Given the description of an element on the screen output the (x, y) to click on. 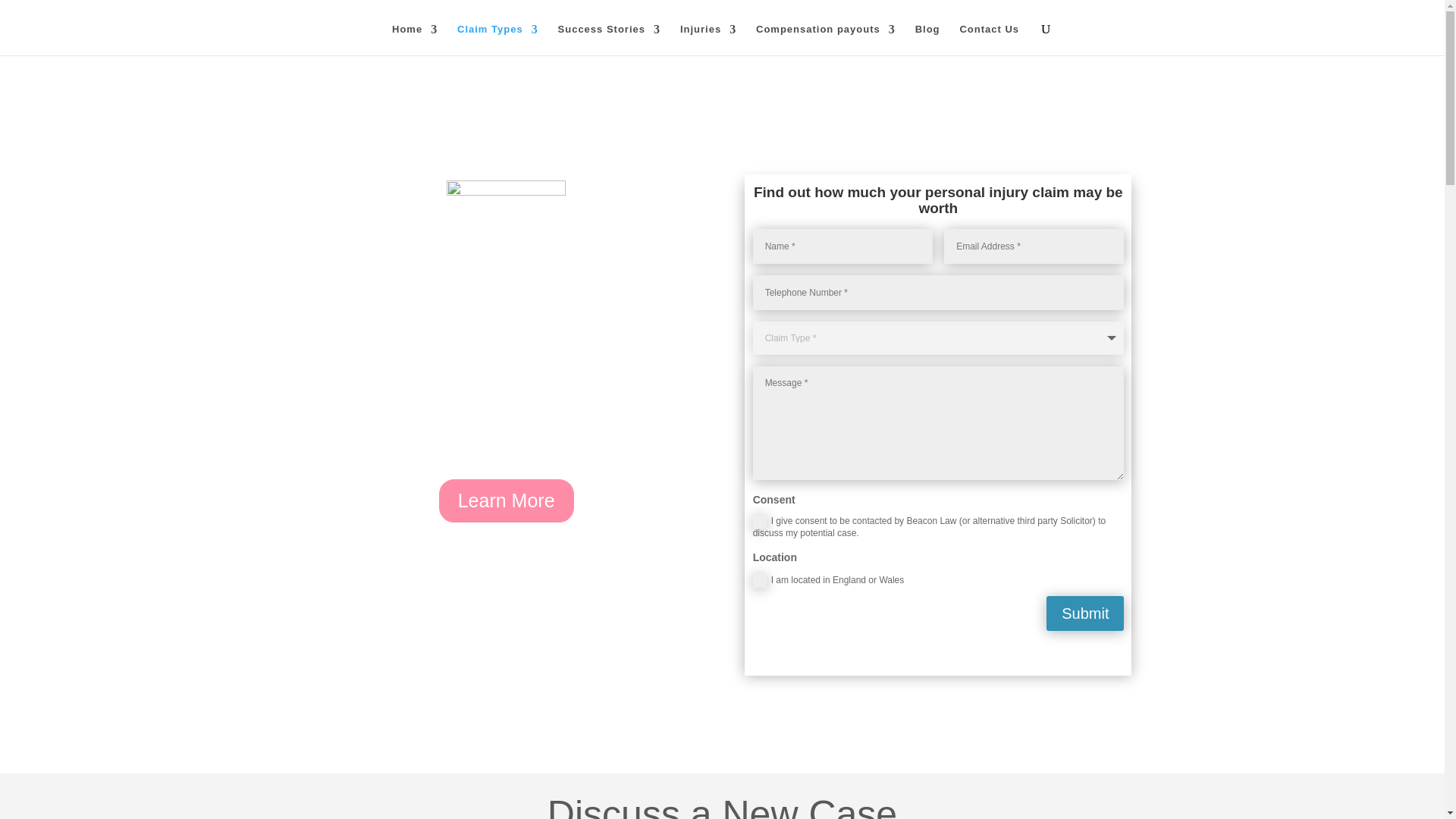
Home (414, 39)
Claim Types (497, 39)
Beacon Logo (506, 221)
